Given the description of an element on the screen output the (x, y) to click on. 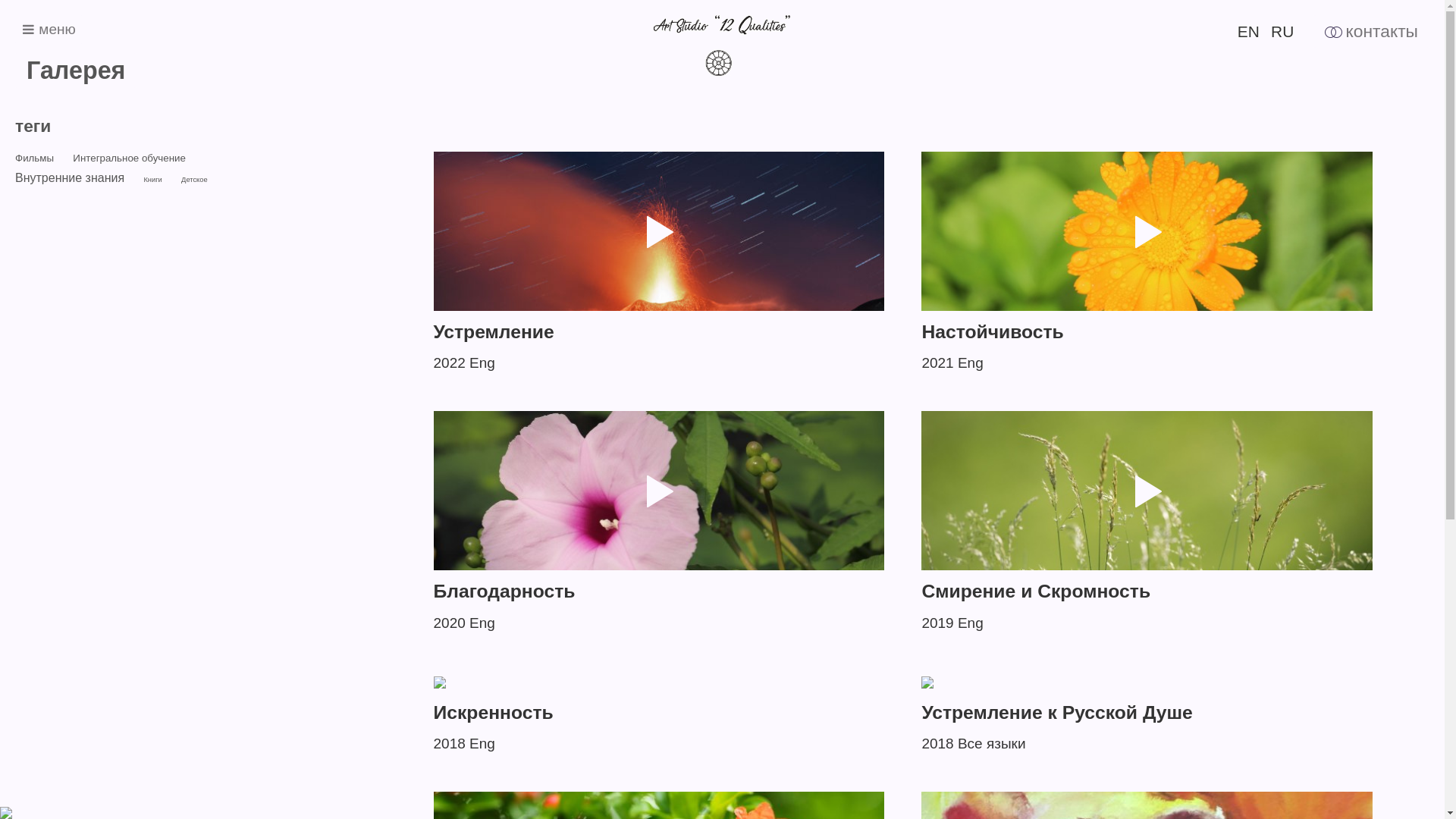
RU Element type: text (1281, 31)
EN Element type: text (1248, 31)
